Given the description of an element on the screen output the (x, y) to click on. 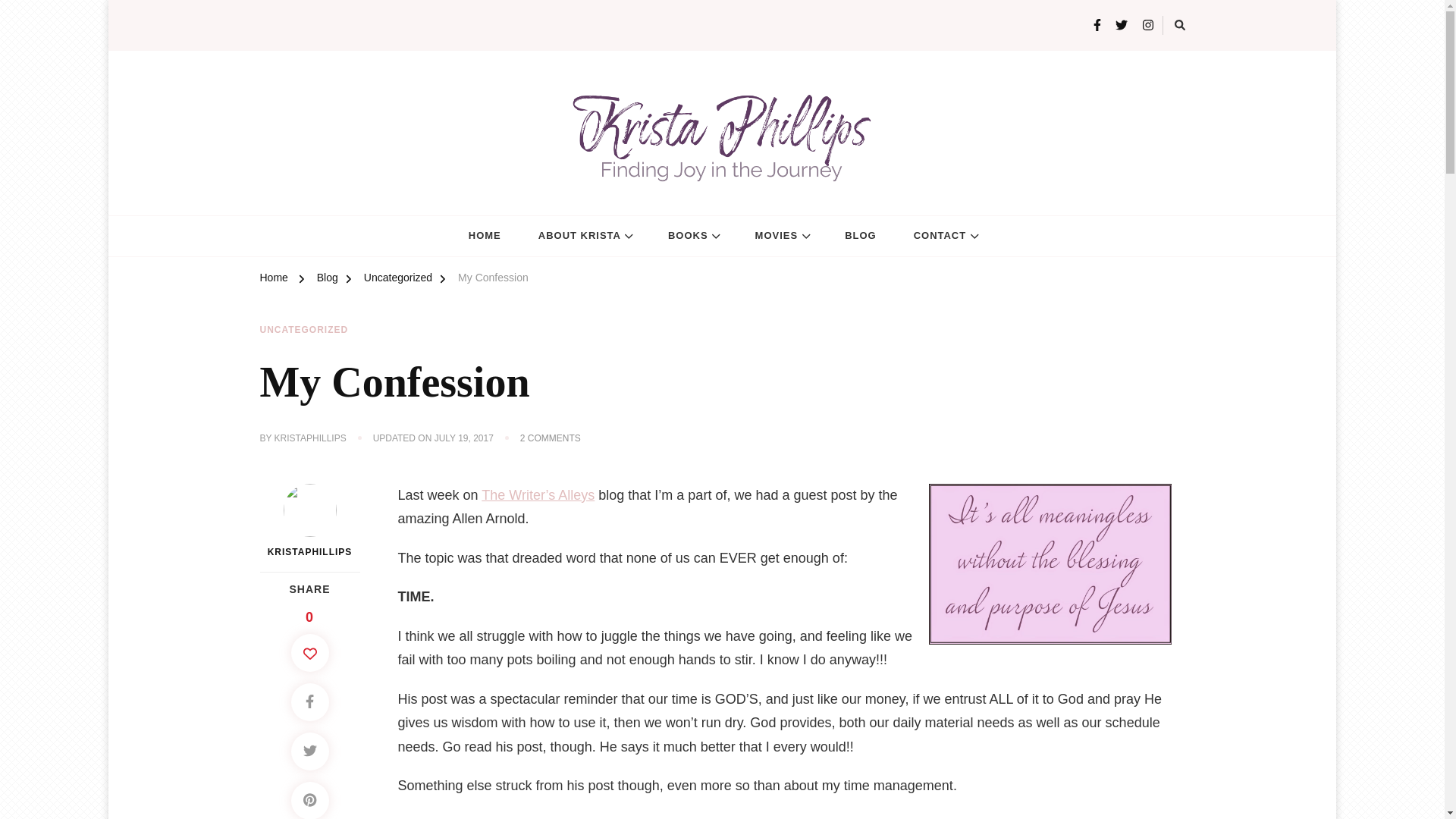
Uncategorized (398, 279)
Blog (327, 279)
My Confession (493, 279)
BOOKS (692, 236)
Home (272, 279)
UNCATEGORIZED (303, 330)
KRISTAPHILLIPS (309, 522)
MOVIES (781, 236)
JULY 19, 2017 (549, 438)
HOME (463, 438)
ABOUT KRISTA (484, 236)
Search (584, 236)
CONTACT (976, 27)
KRISTAPHILLIPS (944, 236)
